Given the description of an element on the screen output the (x, y) to click on. 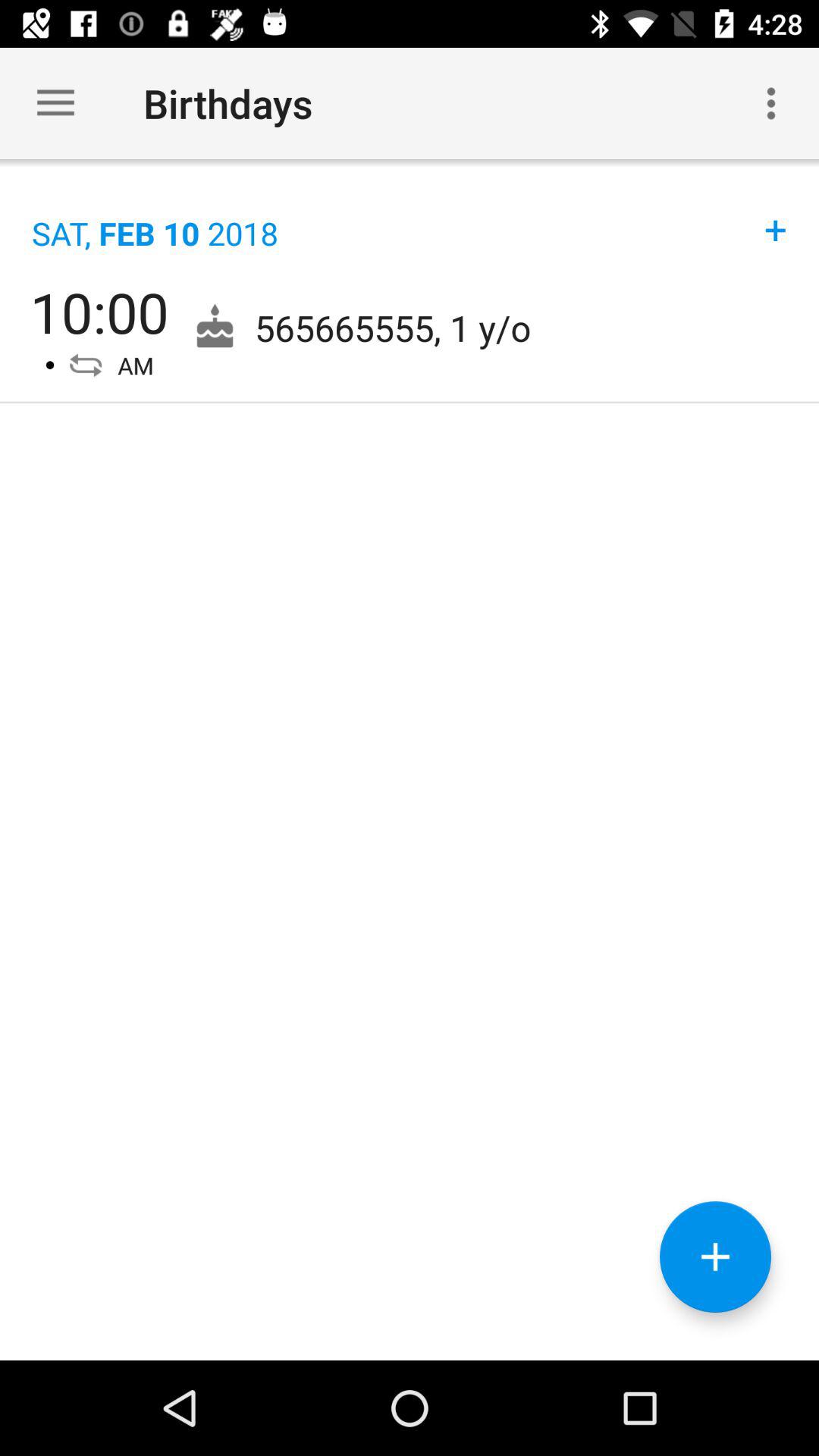
add a new birthday date (715, 1256)
